Given the description of an element on the screen output the (x, y) to click on. 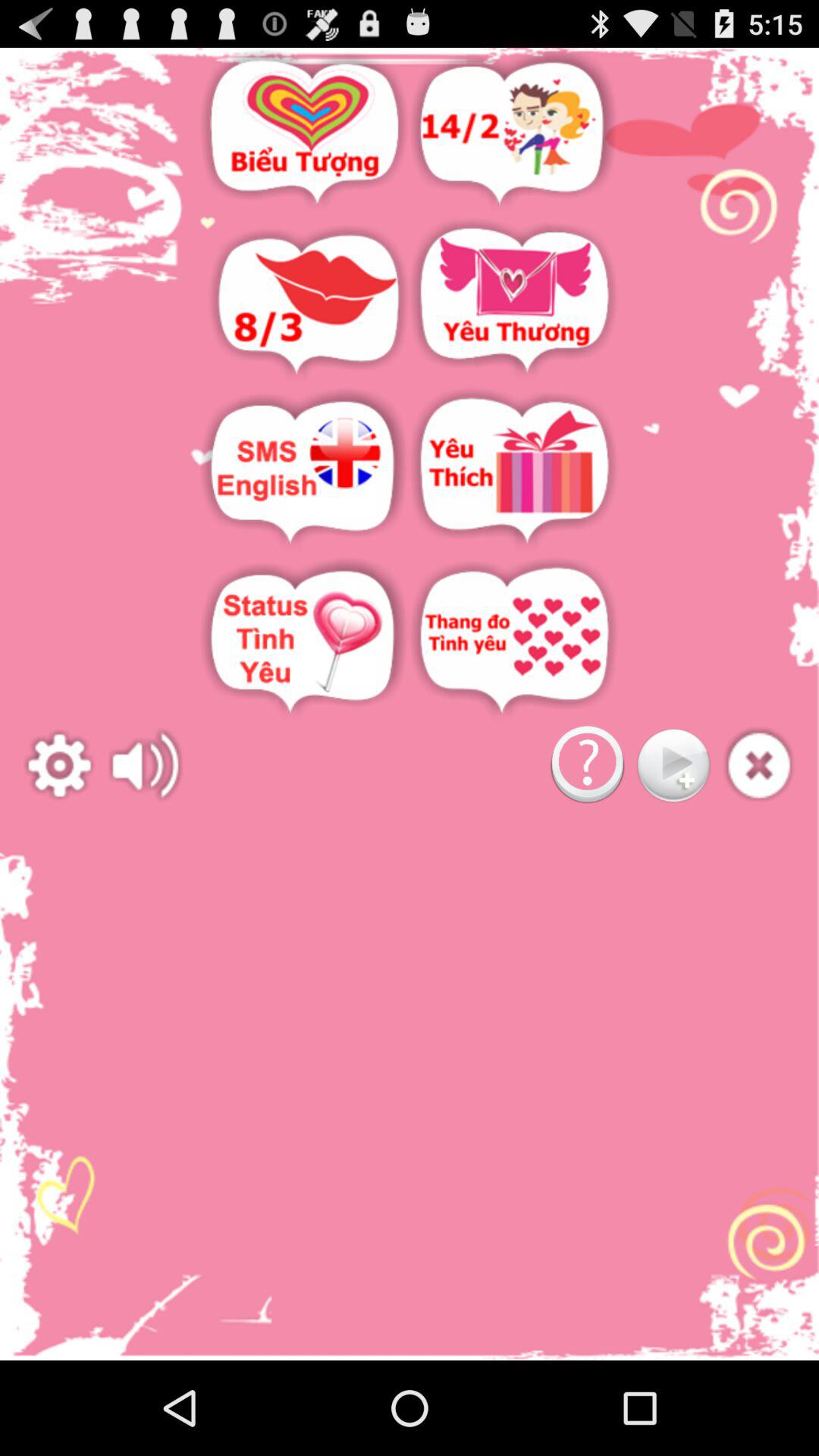
go to next (673, 765)
